Given the description of an element on the screen output the (x, y) to click on. 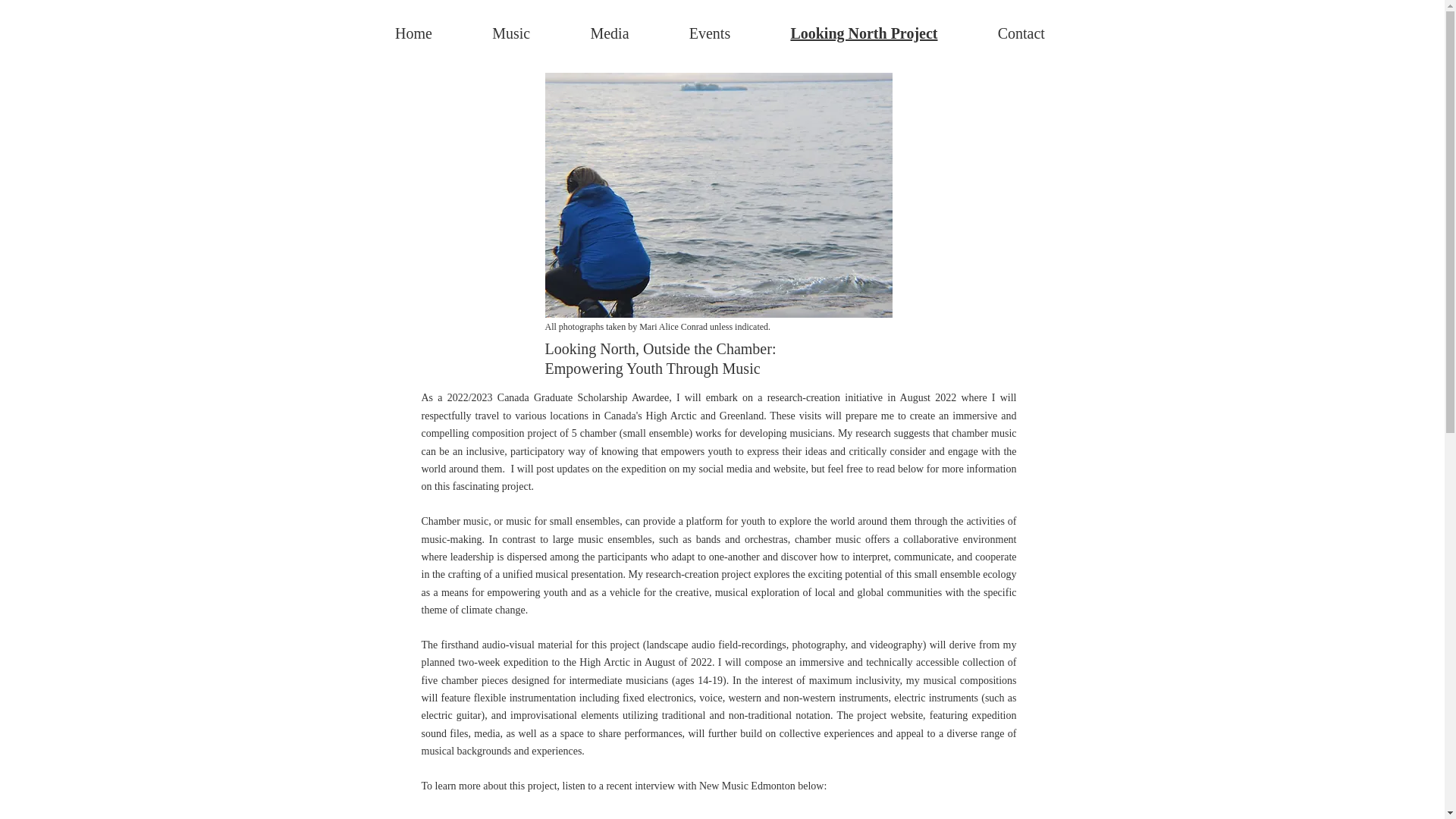
Looking North Project (864, 33)
Music (511, 33)
Events (709, 33)
Contact (1021, 33)
Media (609, 33)
Home (414, 33)
